Given the description of an element on the screen output the (x, y) to click on. 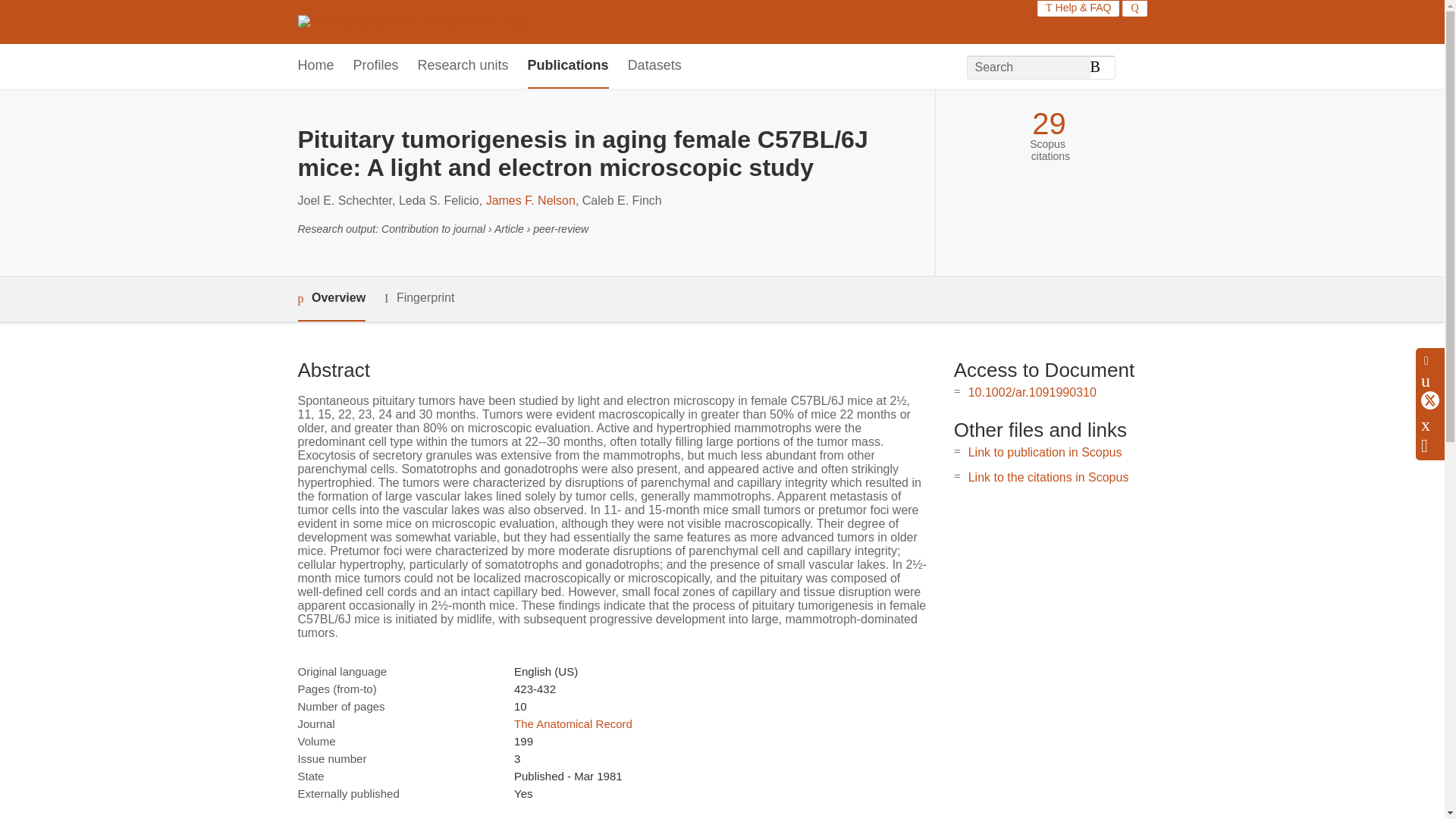
Publications (567, 66)
29 (1048, 123)
Profiles (375, 66)
Datasets (654, 66)
Link to the citations in Scopus (1048, 477)
Research units (462, 66)
Fingerprint (419, 298)
Link to publication in Scopus (1045, 451)
James F. Nelson (530, 200)
